Given the description of an element on the screen output the (x, y) to click on. 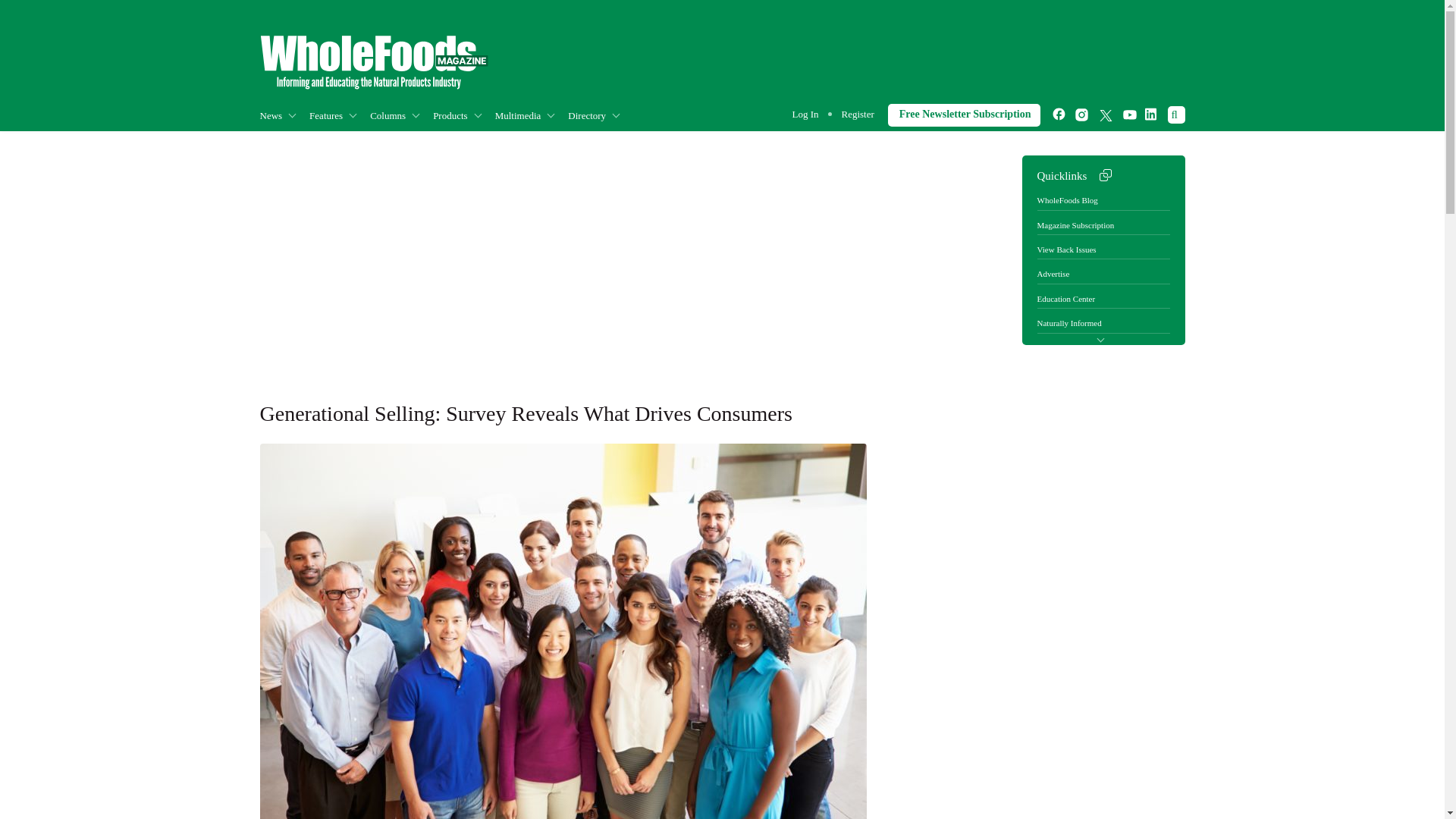
3rd party ad content (1038, 609)
Group 2 (373, 62)
3rd party ad content (908, 58)
